Given the description of an element on the screen output the (x, y) to click on. 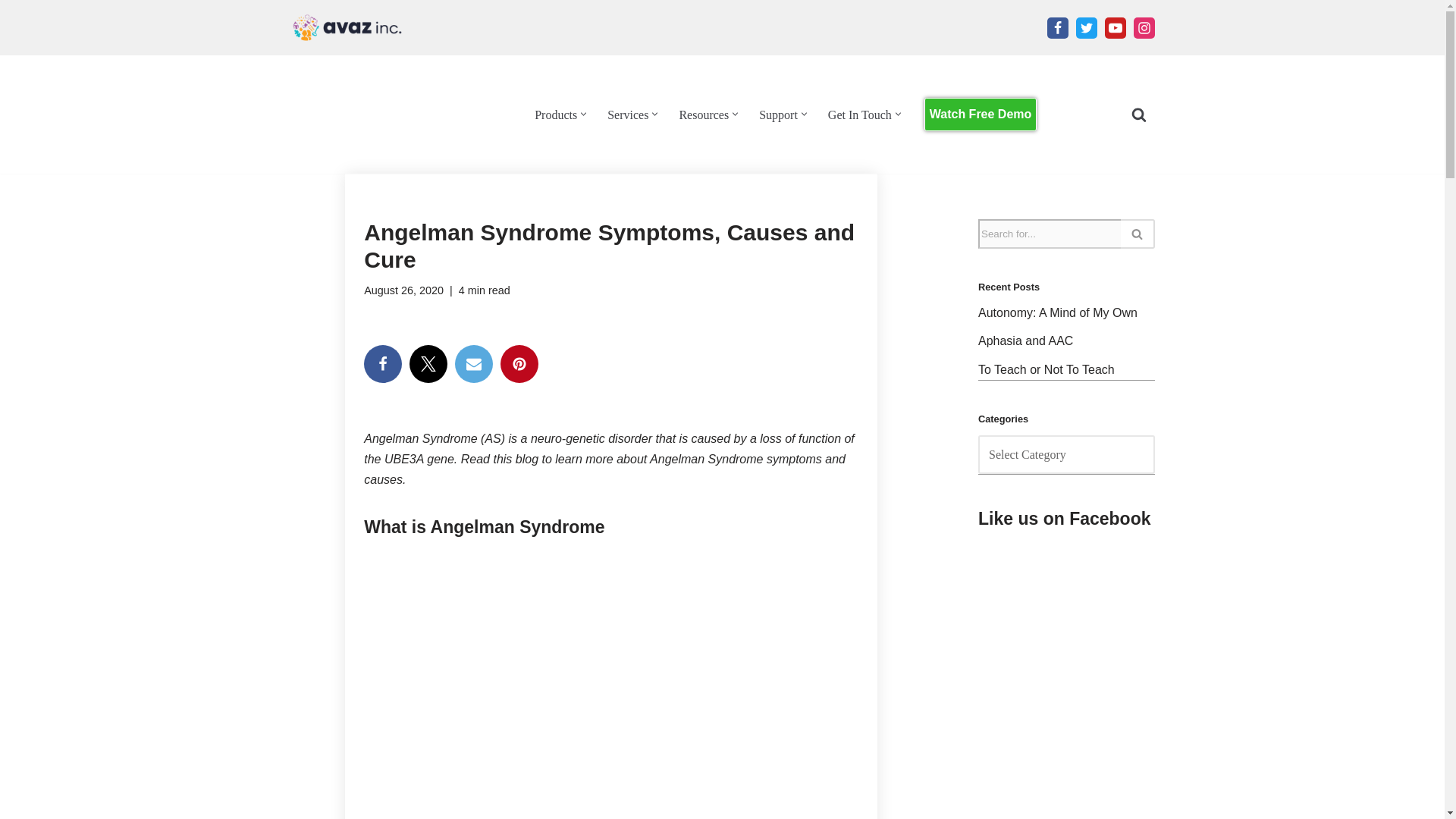
Facebook (1056, 27)
Facebook (382, 363)
Services (627, 114)
Youtube (1114, 27)
Get In Touch (859, 114)
Skip to content (11, 31)
Products (555, 114)
Twitter (1085, 27)
Support (777, 114)
Twitter (427, 363)
Watch Free Demo (980, 114)
Instagram (1143, 27)
Resources (703, 114)
Email (473, 363)
Pinterest (519, 363)
